Given the description of an element on the screen output the (x, y) to click on. 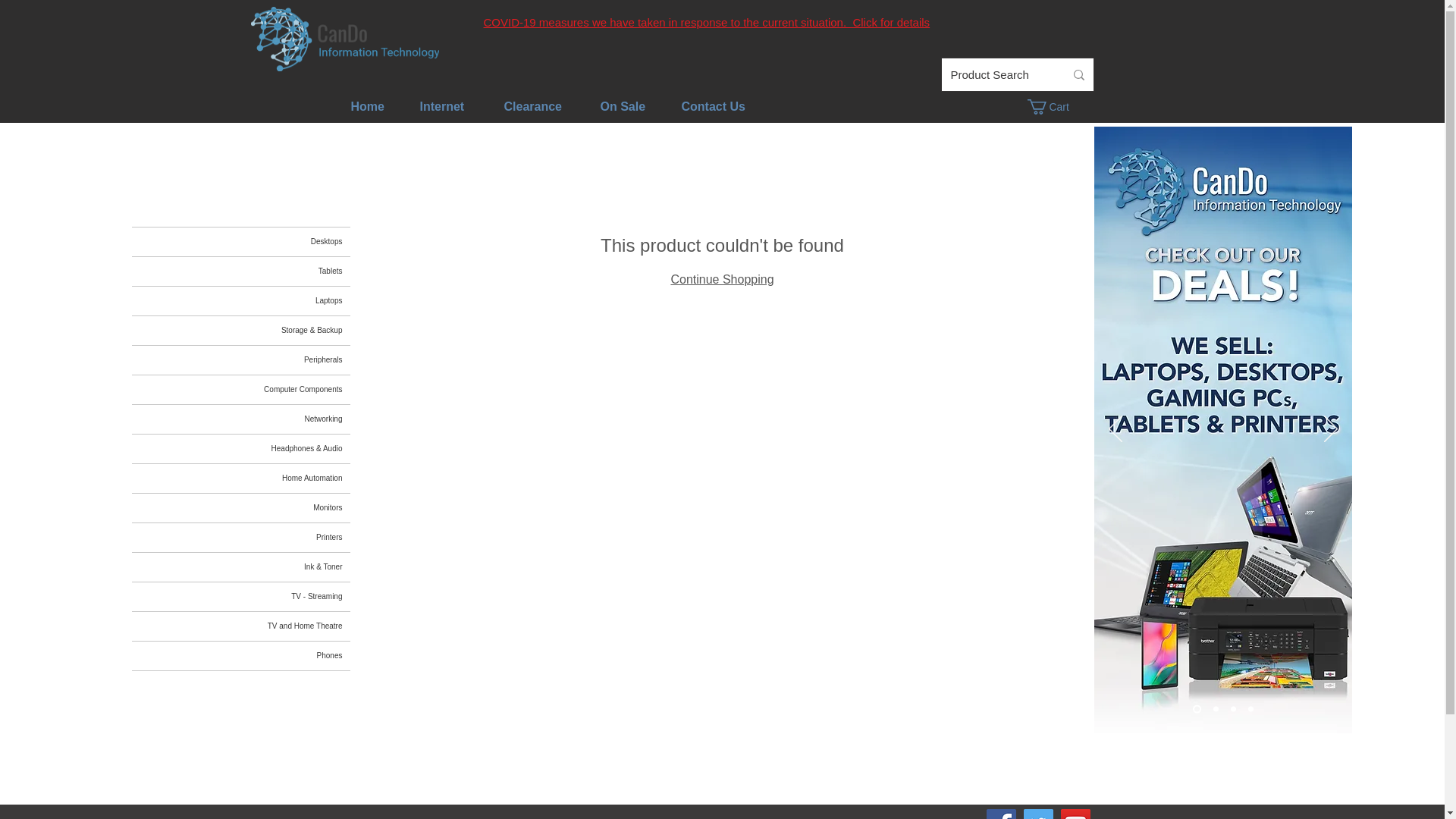
Continue Shopping (721, 278)
Cart (1056, 106)
On Sale (622, 106)
Cart (1056, 106)
Internet (442, 106)
Clearance (532, 106)
Contact Us (712, 106)
Home (367, 106)
